Given the description of an element on the screen output the (x, y) to click on. 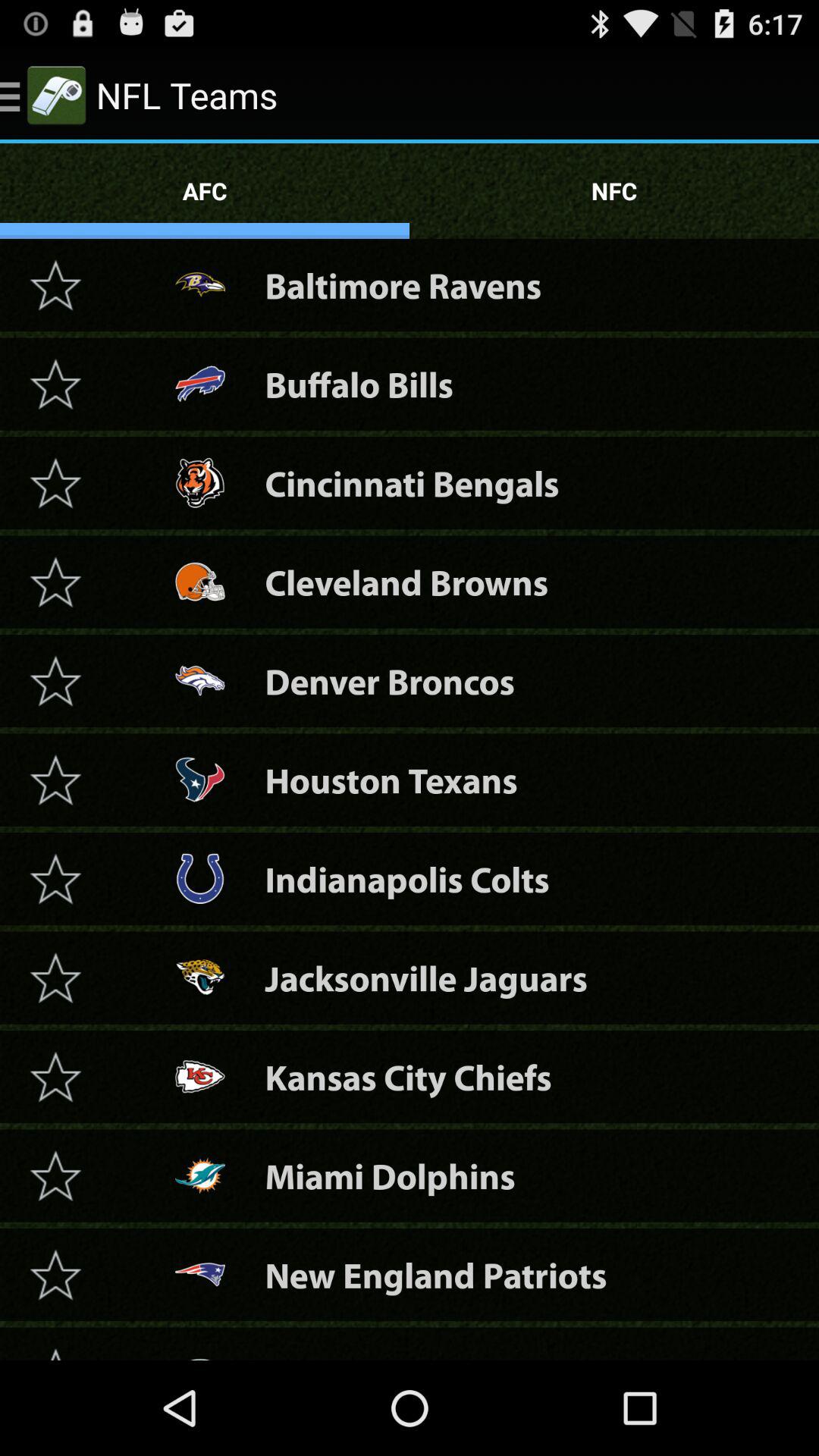
tap the item below cincinnati bengals app (406, 581)
